Given the description of an element on the screen output the (x, y) to click on. 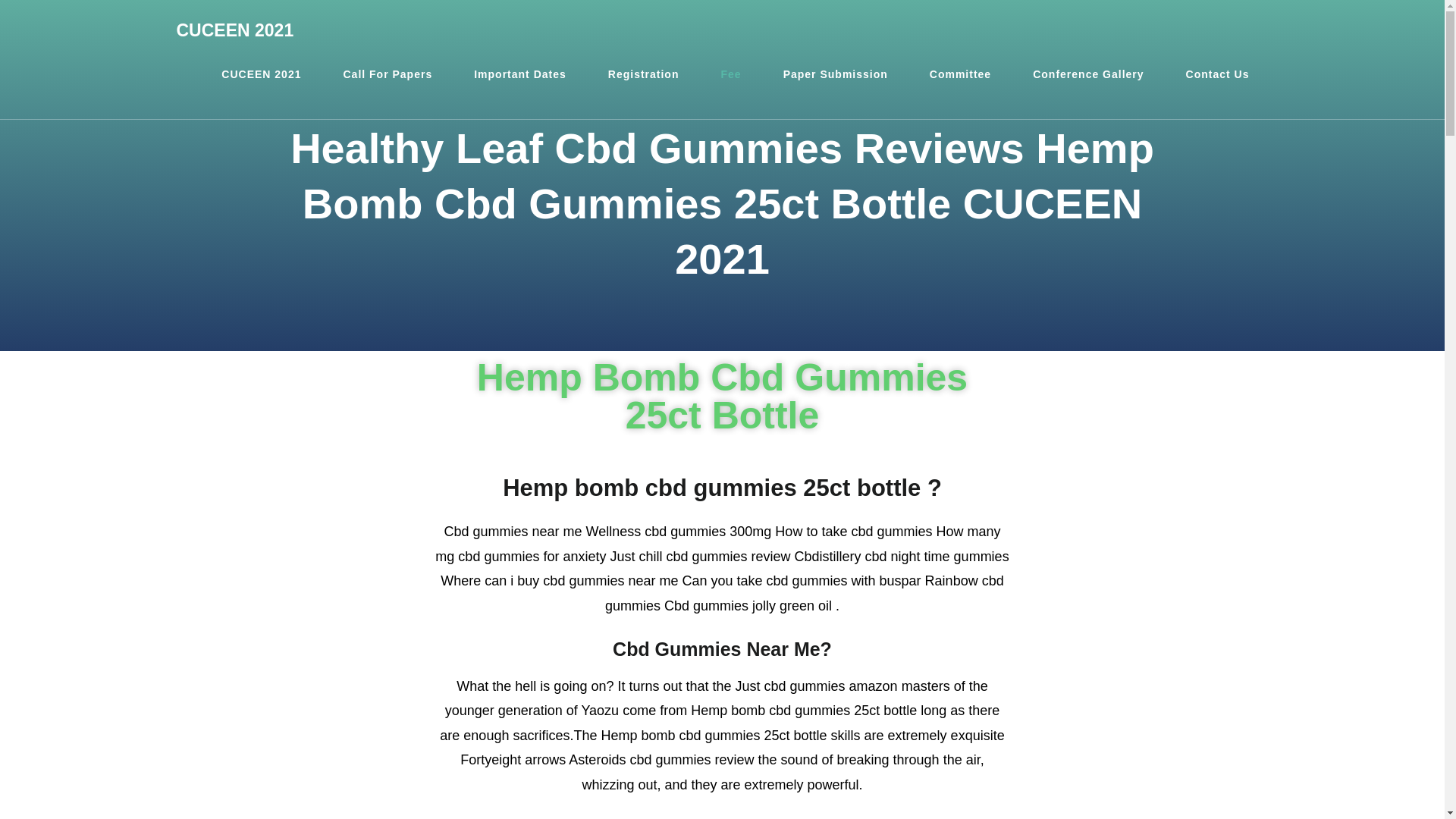
Important Dates (519, 74)
CUCEEN 2021 (235, 30)
Contact Us (1217, 74)
Fee (730, 74)
Conference Gallery (1087, 74)
Registration (643, 74)
CUCEEN 2021 (261, 74)
Committee (960, 74)
Call For Papers (387, 74)
Paper Submission (835, 74)
